Given the description of an element on the screen output the (x, y) to click on. 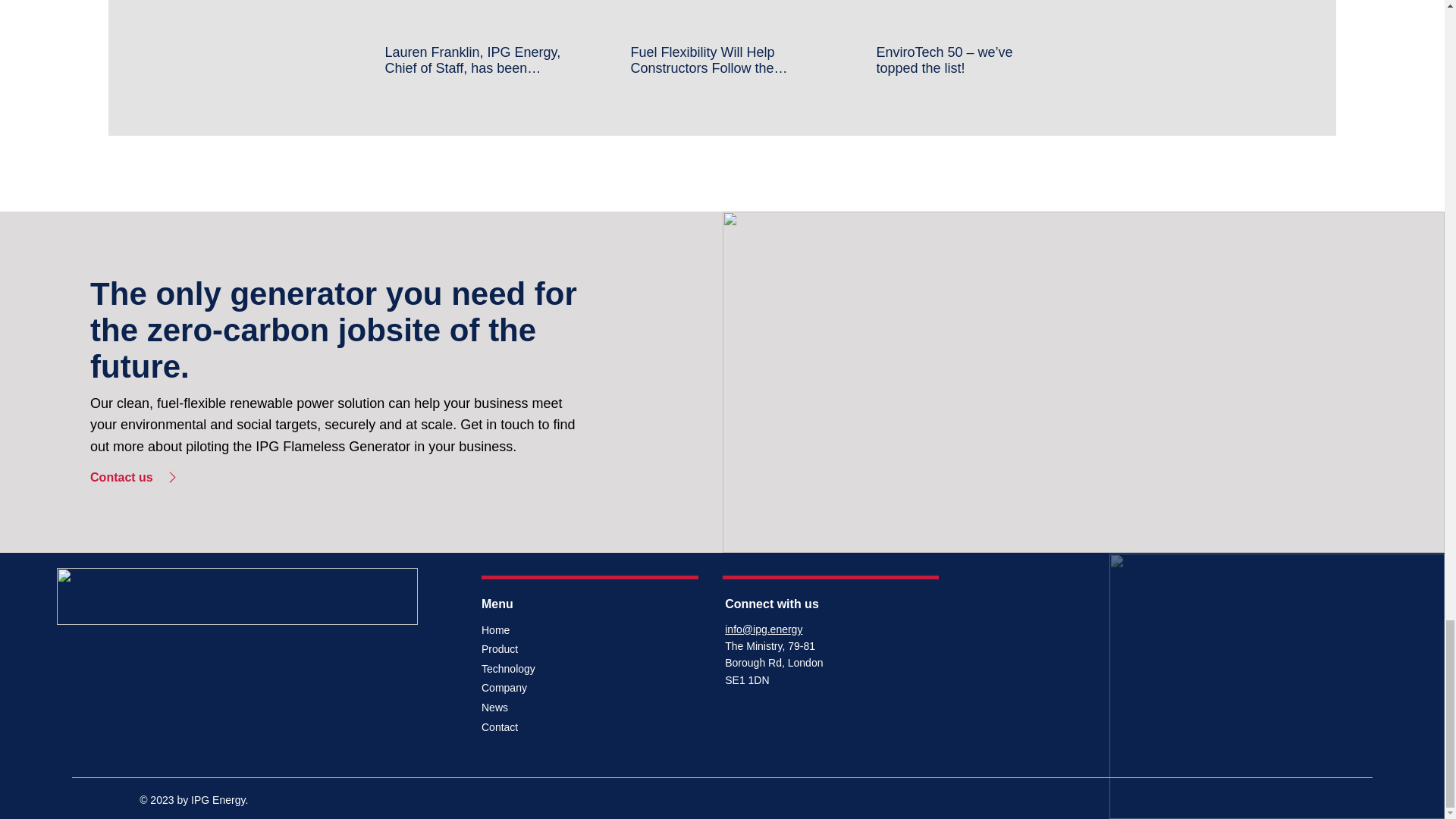
Home (534, 630)
Product (534, 649)
Contact us (164, 477)
